Given the description of an element on the screen output the (x, y) to click on. 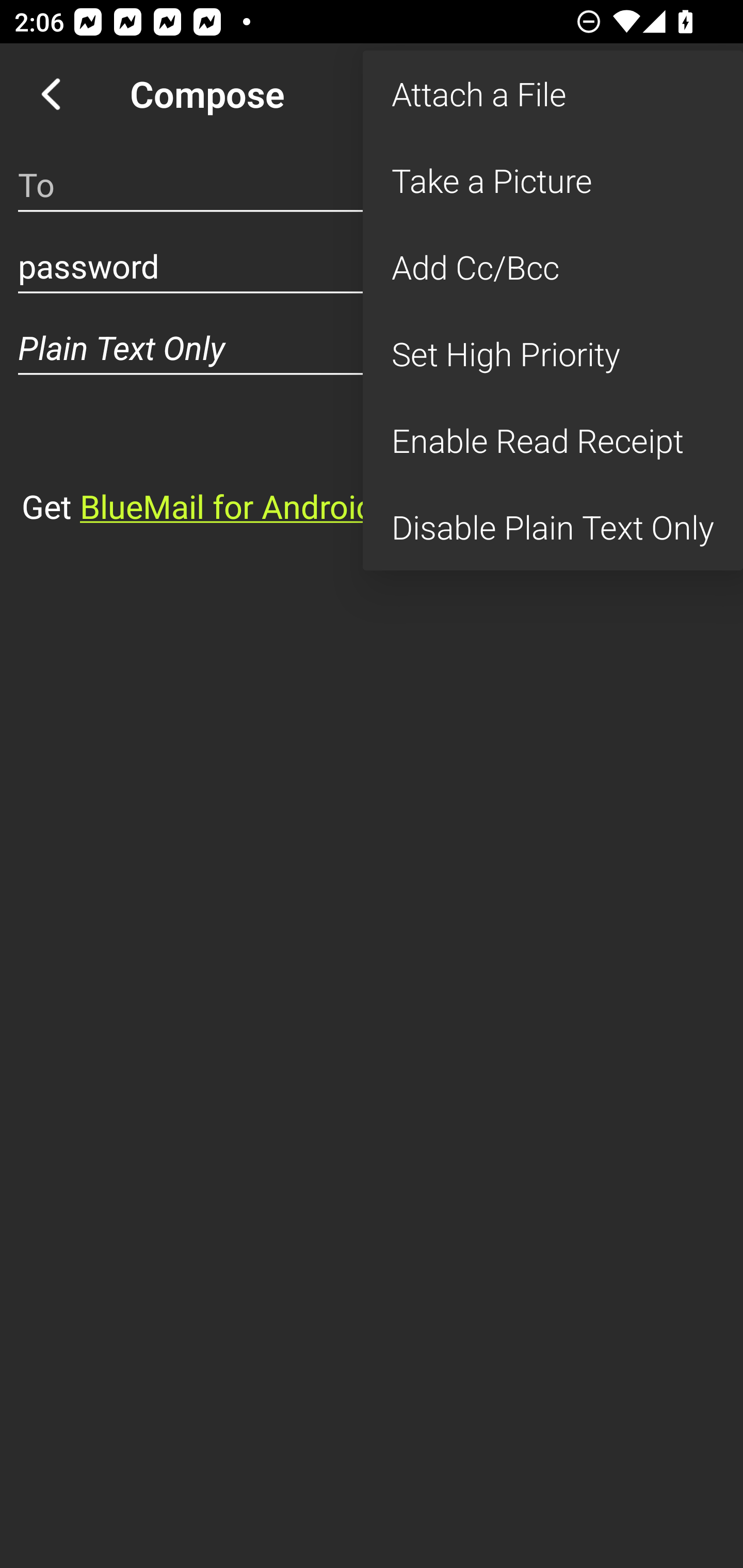
Attach a File (552, 93)
Take a Picture (552, 180)
Add Cc/Bcc (552, 267)
Set High Priority (552, 353)
Enable Read Receipt (552, 440)
Disable Plain Text Only (552, 527)
